Given the description of an element on the screen output the (x, y) to click on. 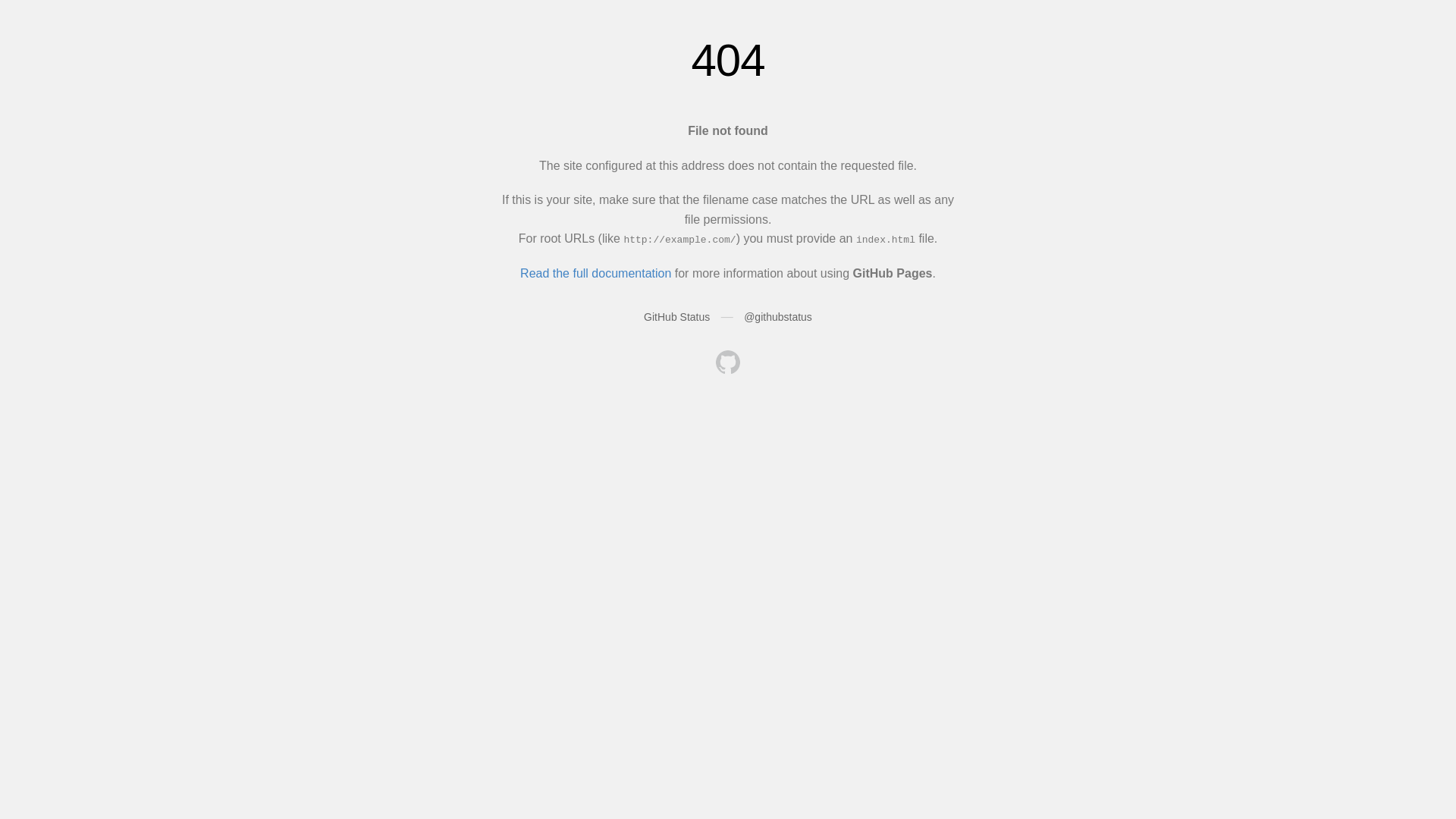
@githubstatus Element type: text (777, 316)
GitHub Status Element type: text (676, 316)
Read the full documentation Element type: text (595, 272)
